Given the description of an element on the screen output the (x, y) to click on. 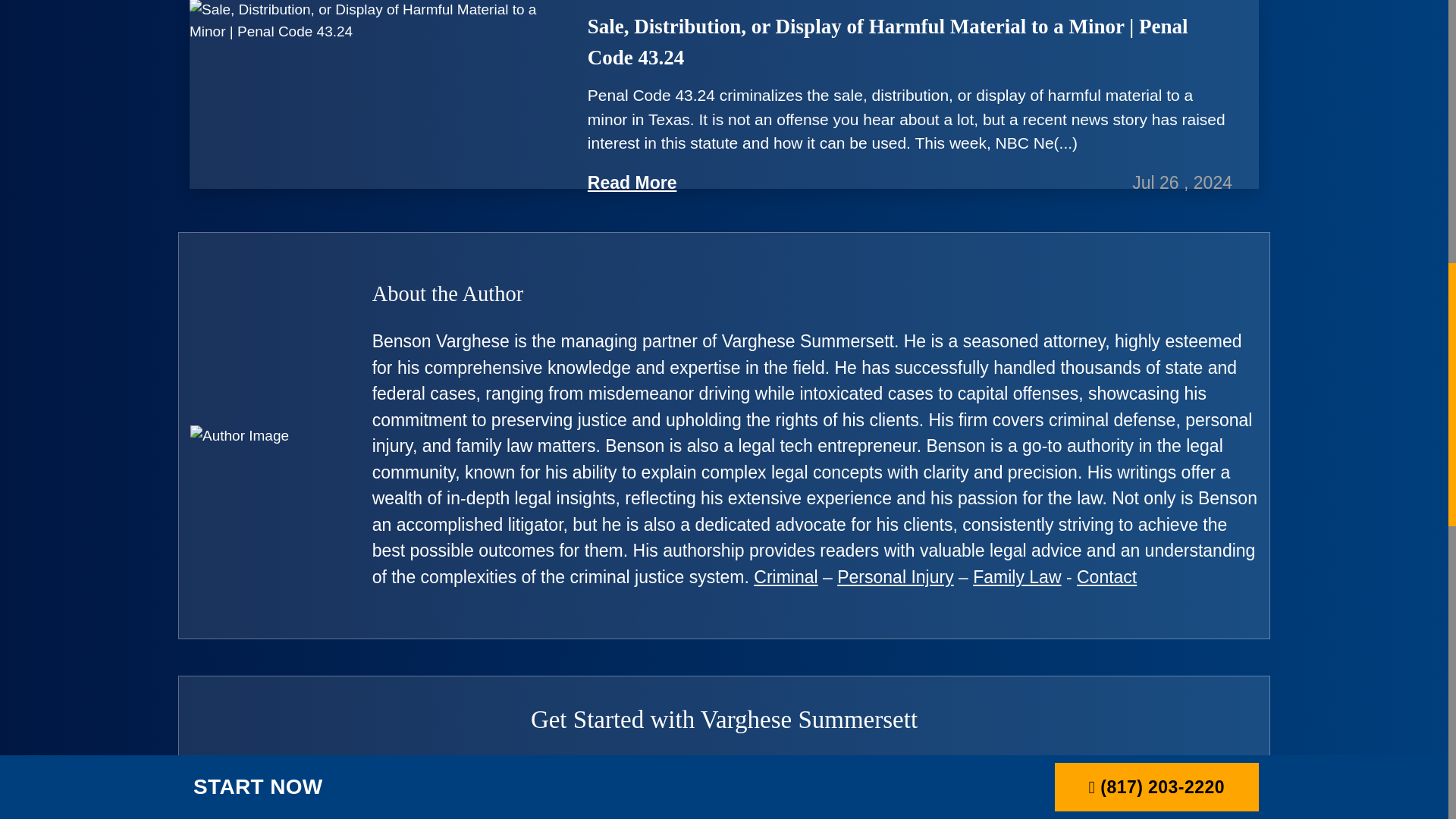
Author Image (239, 436)
